Given the description of an element on the screen output the (x, y) to click on. 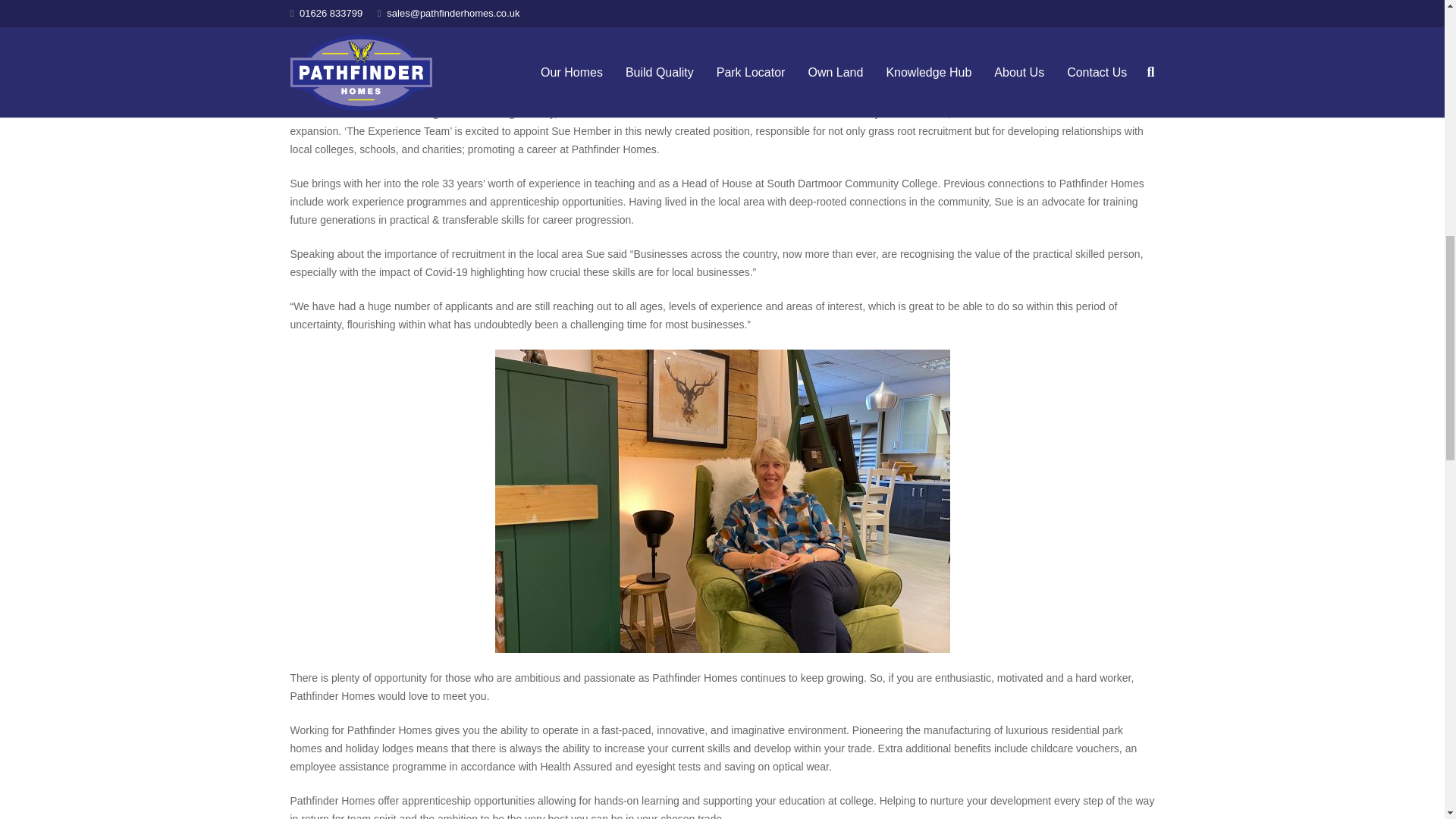
Company News (410, 0)
No Comments (493, 0)
Back to top (1413, 22)
